Given the description of an element on the screen output the (x, y) to click on. 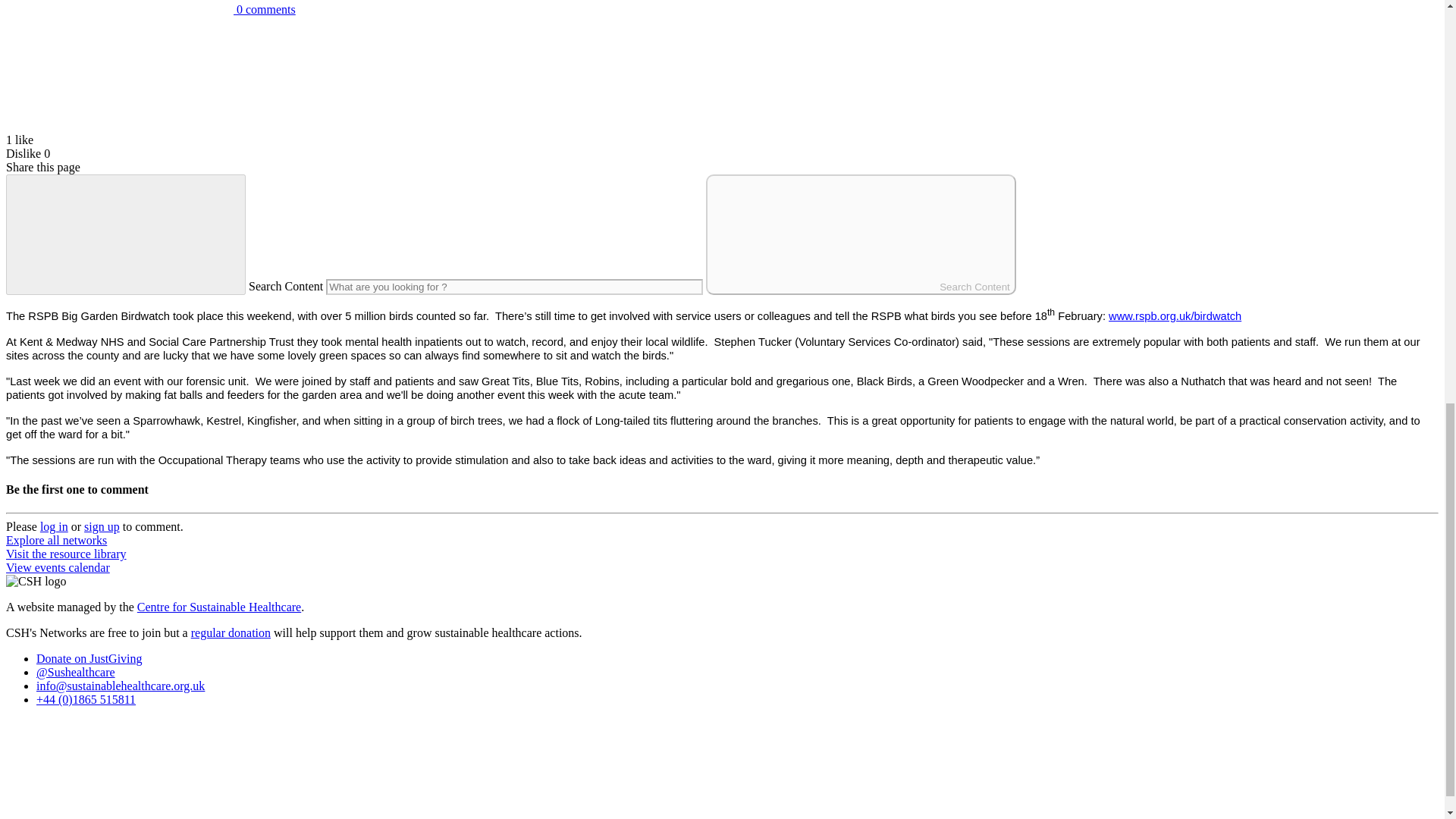
Total amount of likes (118, 73)
regular donation (230, 632)
Donate on JustGiving (89, 658)
Like (118, 125)
Dislike (22, 153)
Total amount of comments (150, 9)
Explore all networks (55, 540)
Close search window (125, 234)
Close search window (125, 234)
Dislike (22, 153)
Close search window (125, 233)
Total amount of likes (118, 125)
Visit the resource library (65, 553)
sign up (101, 526)
Total amount of comments (118, 6)
